Given the description of an element on the screen output the (x, y) to click on. 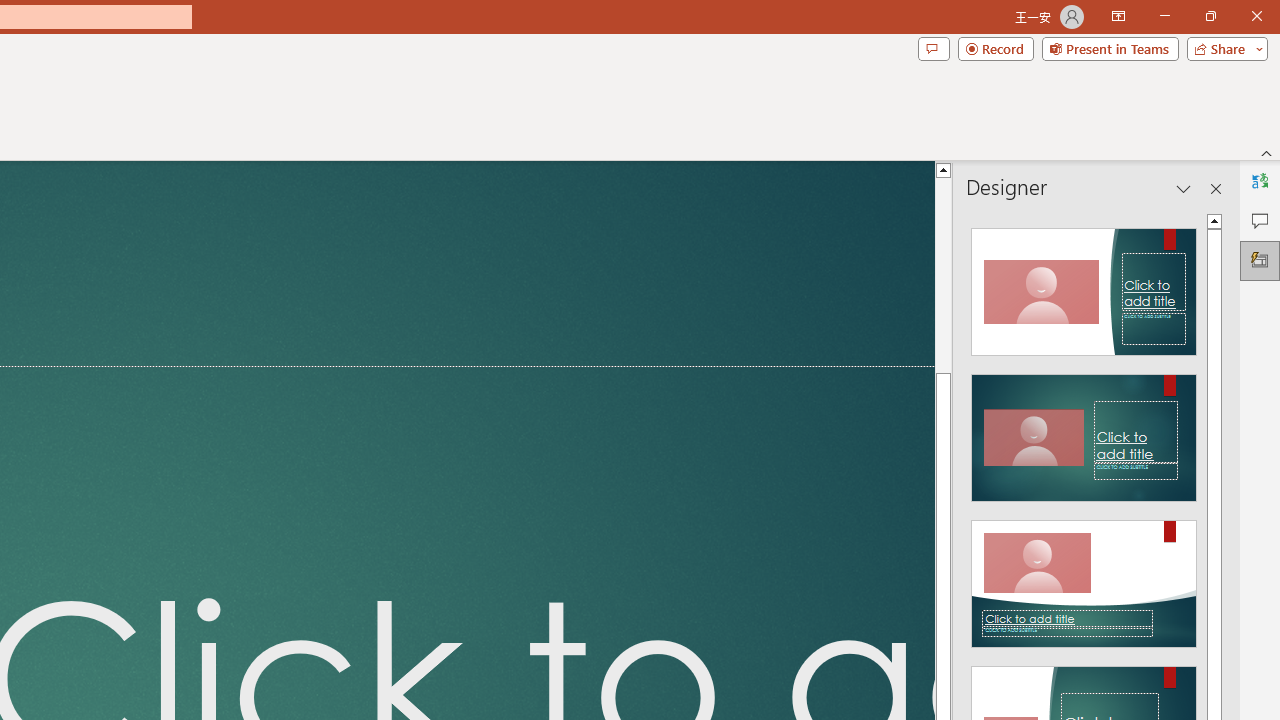
Line up (943, 169)
